Given the description of an element on the screen output the (x, y) to click on. 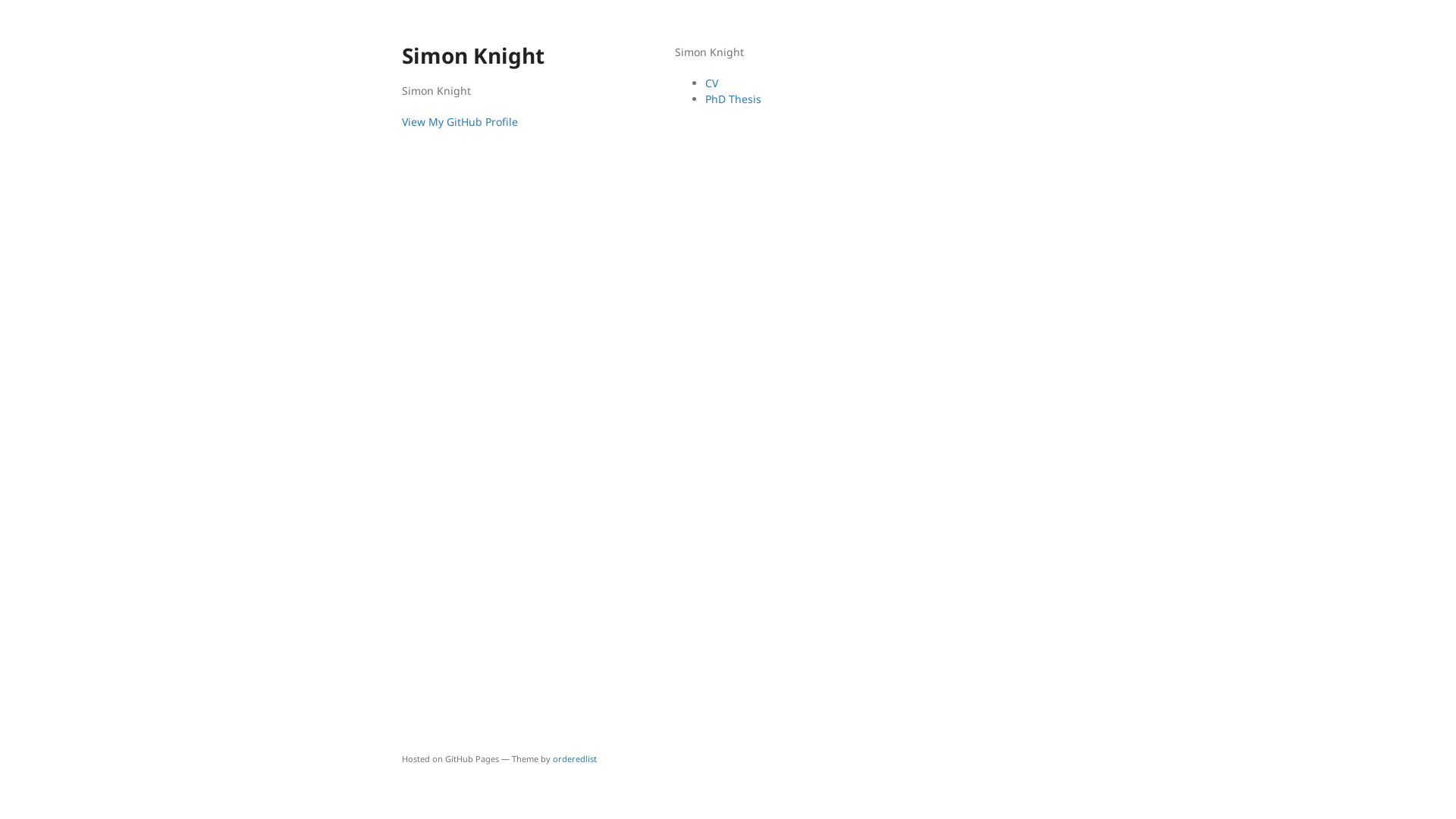
PhD Thesis Element type: text (733, 98)
orderedlist Element type: text (574, 758)
Simon Knight Element type: text (503, 55)
CV Element type: text (711, 82)
View My GitHub Profile Element type: text (459, 121)
